Given the description of an element on the screen output the (x, y) to click on. 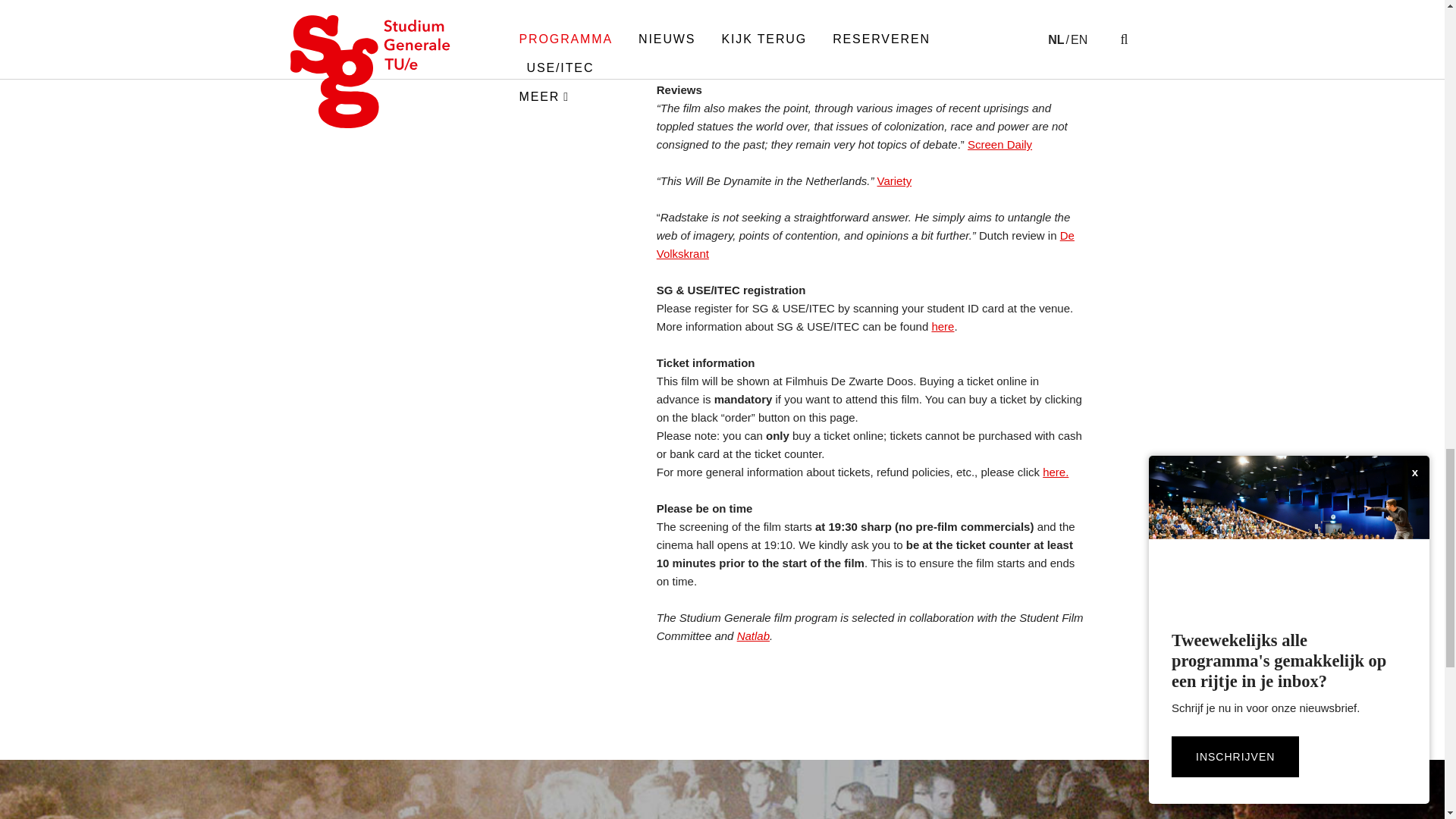
Natlab (753, 635)
here. (1055, 472)
Screen Daily (1000, 144)
here (942, 326)
De Volkskrant (865, 244)
Variety (894, 180)
